Given the description of an element on the screen output the (x, y) to click on. 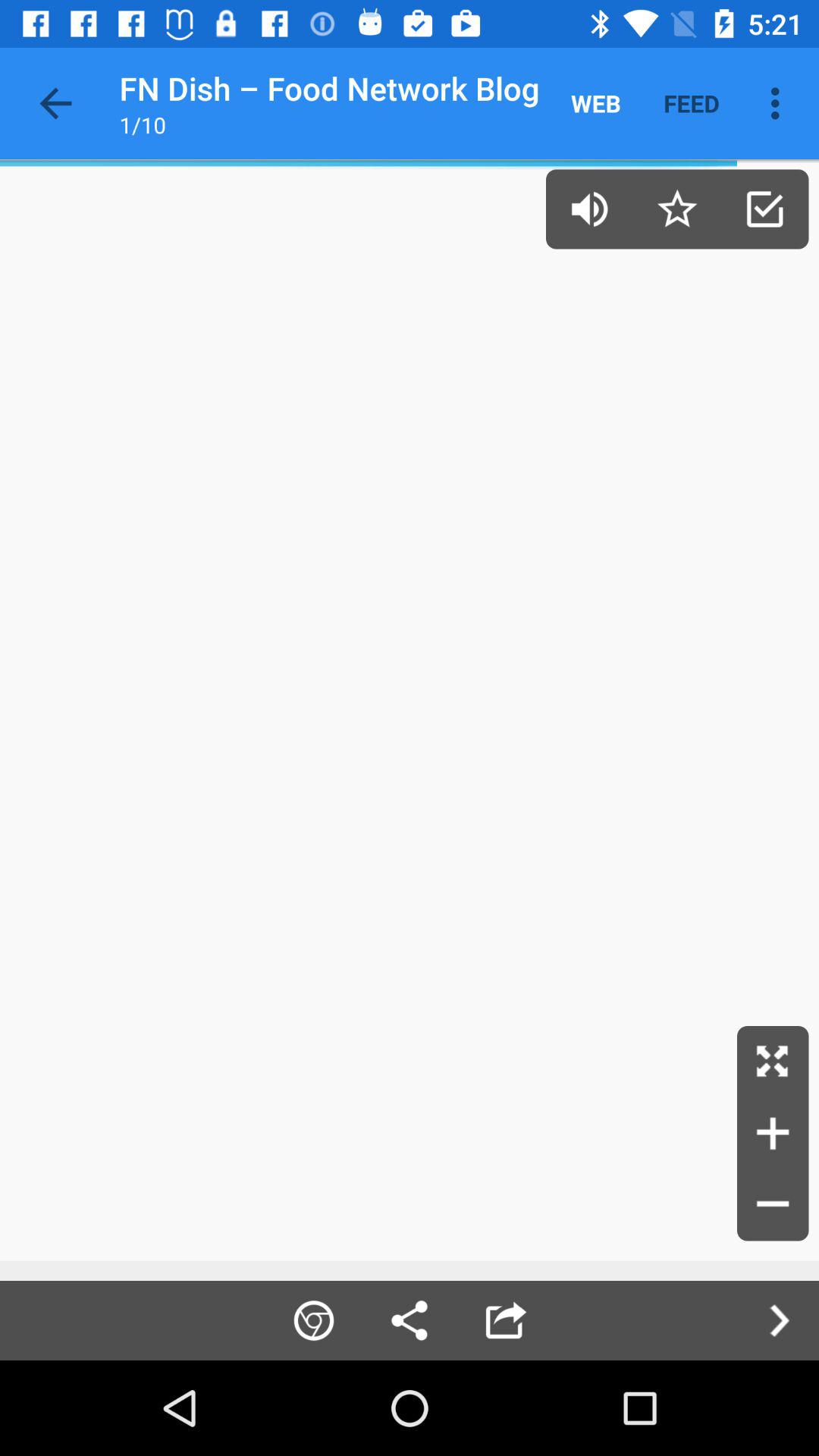
turn on the app next to fn dish food icon (595, 103)
